Given the description of an element on the screen output the (x, y) to click on. 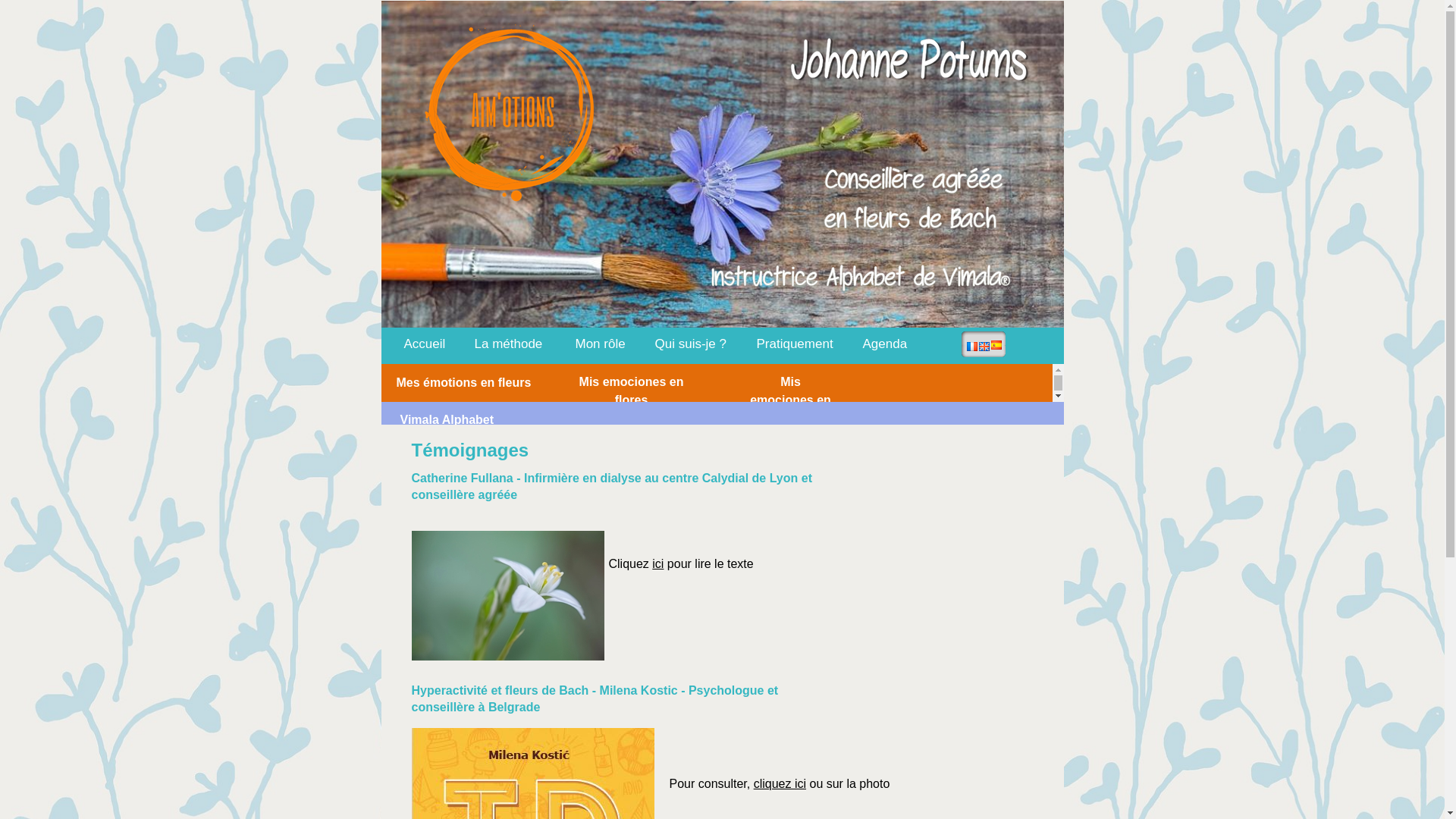
Cliquez ici pour lire le texte Element type: text (680, 562)
Pour consulter, cliquez ici ou sur la photo Element type: text (778, 782)
Agenda Element type: text (884, 343)
Agenda Element type: text (884, 343)
Qui suis-je ? Element type: text (690, 343)
Mis emociones en flores Element type: text (790, 398)
Pratiquement Element type: text (794, 343)
Mis emociones en flores Element type: text (630, 389)
Accueil Element type: text (418, 343)
Accueil Element type: text (424, 343)
Pratiquement Element type: text (794, 343)
Qui suis-je ? Element type: text (690, 343)
Vimala Alphabet Element type: text (446, 418)
Vimala Alphabet Element type: text (486, 418)
